Given the description of an element on the screen output the (x, y) to click on. 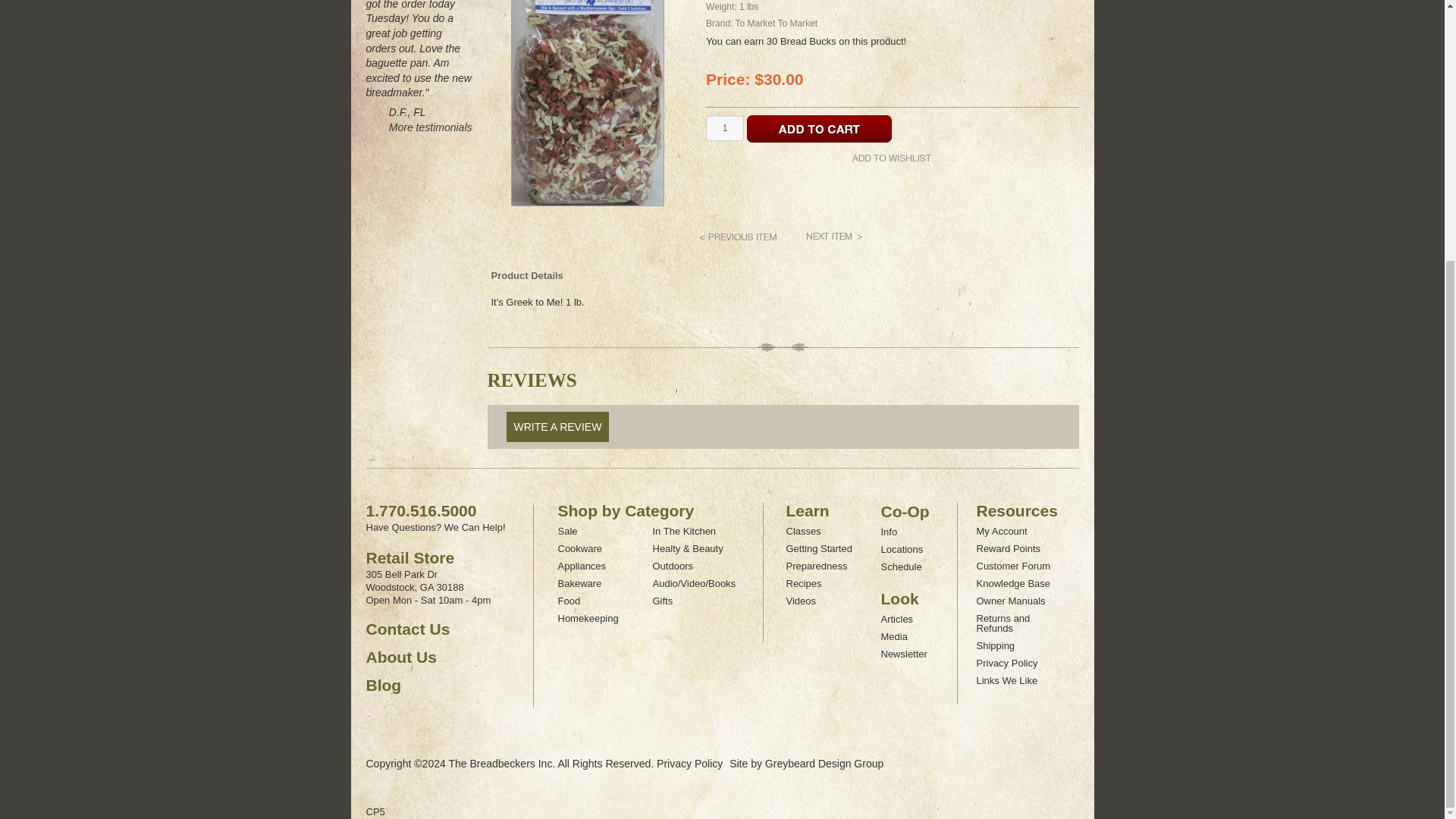
1 (725, 127)
